Given the description of an element on the screen output the (x, y) to click on. 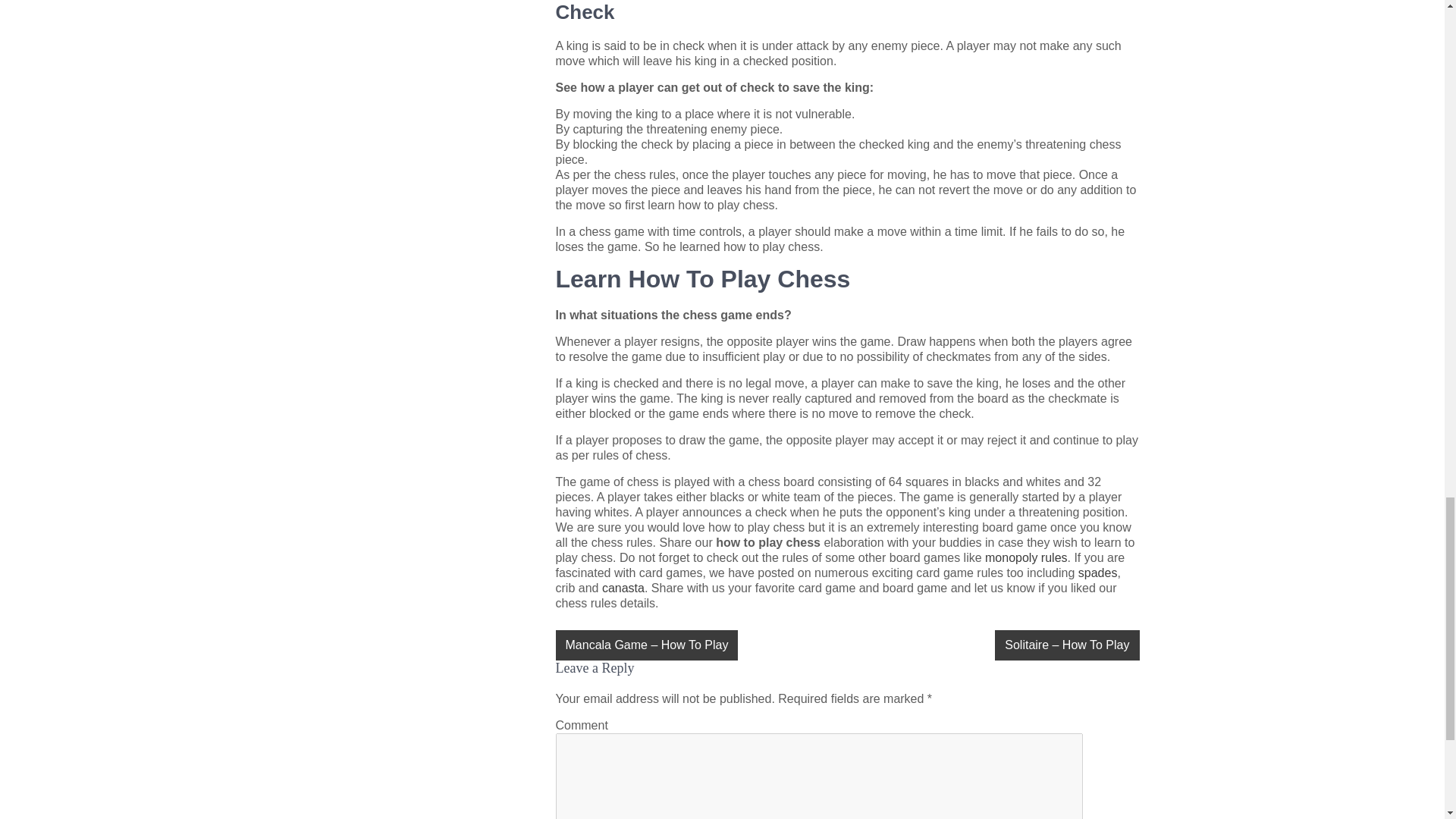
canasta (623, 587)
spades (1098, 572)
monopoly rules (1026, 557)
